Given the description of an element on the screen output the (x, y) to click on. 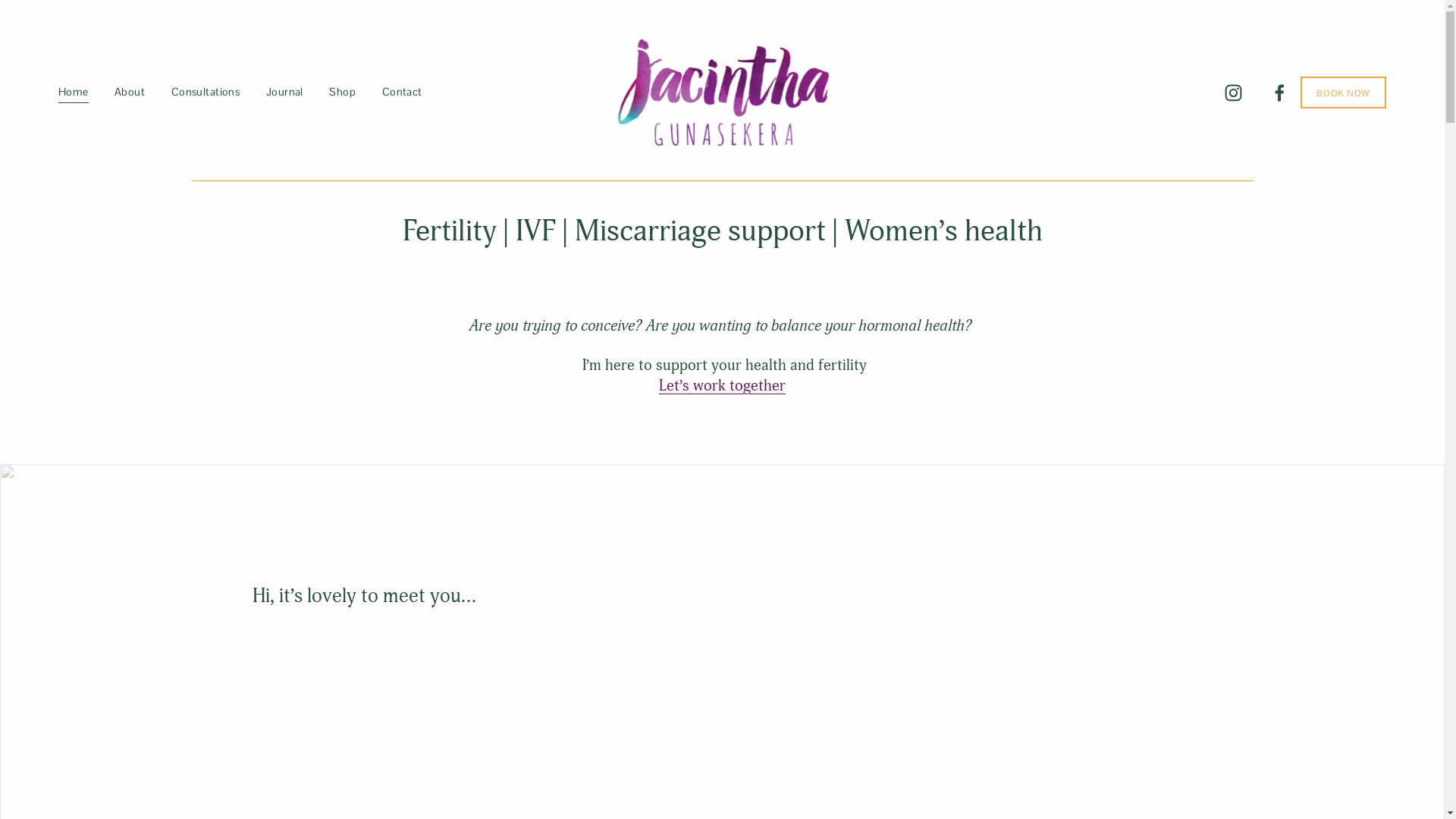
Shop Element type: text (342, 92)
About Element type: text (129, 92)
BOOK NOW Element type: text (1343, 92)
Consultations Element type: text (205, 92)
Contact Element type: text (402, 92)
Home Element type: text (73, 92)
Journal Element type: text (284, 92)
